Given the description of an element on the screen output the (x, y) to click on. 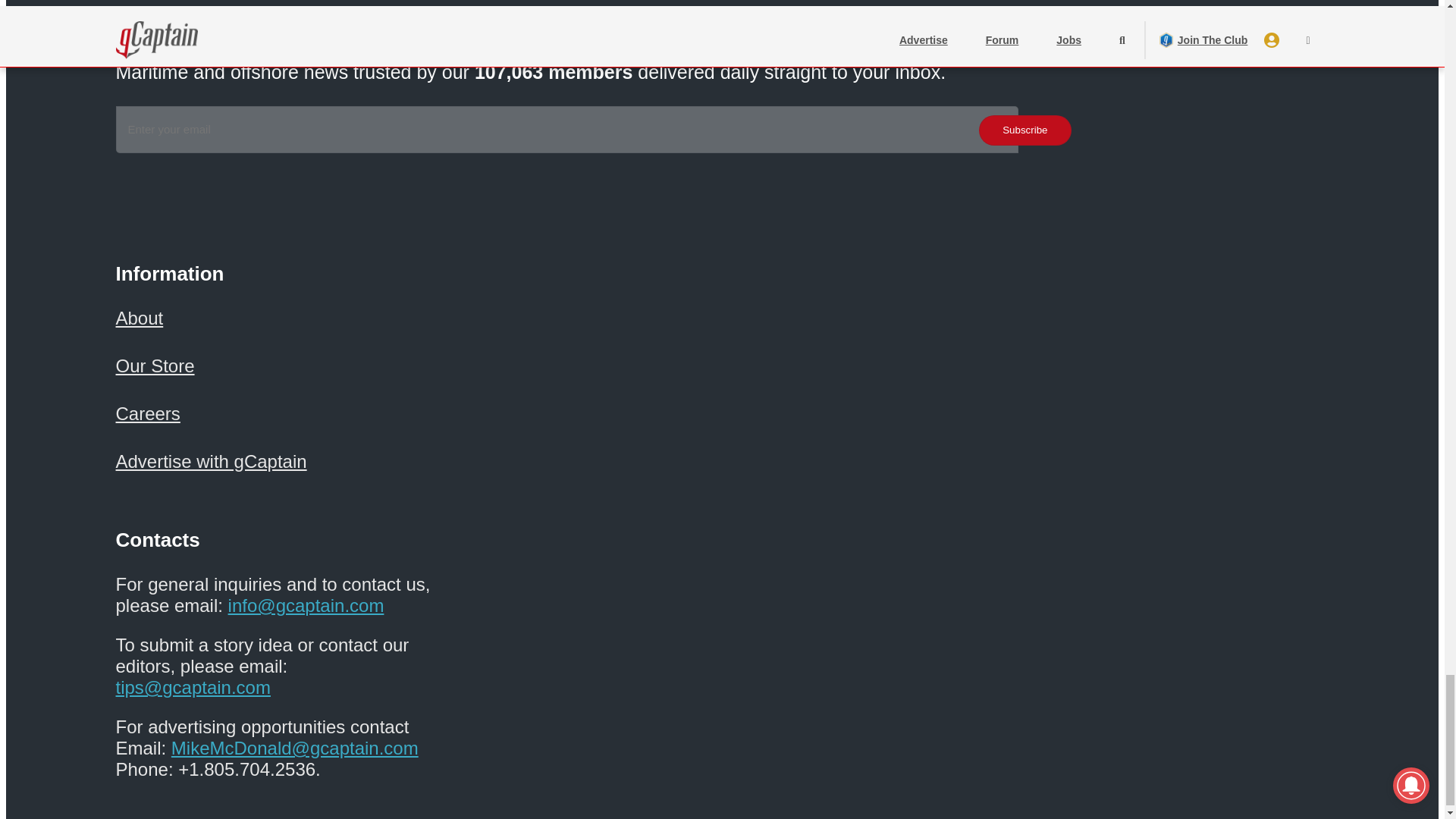
Subscribe (1024, 130)
